Given the description of an element on the screen output the (x, y) to click on. 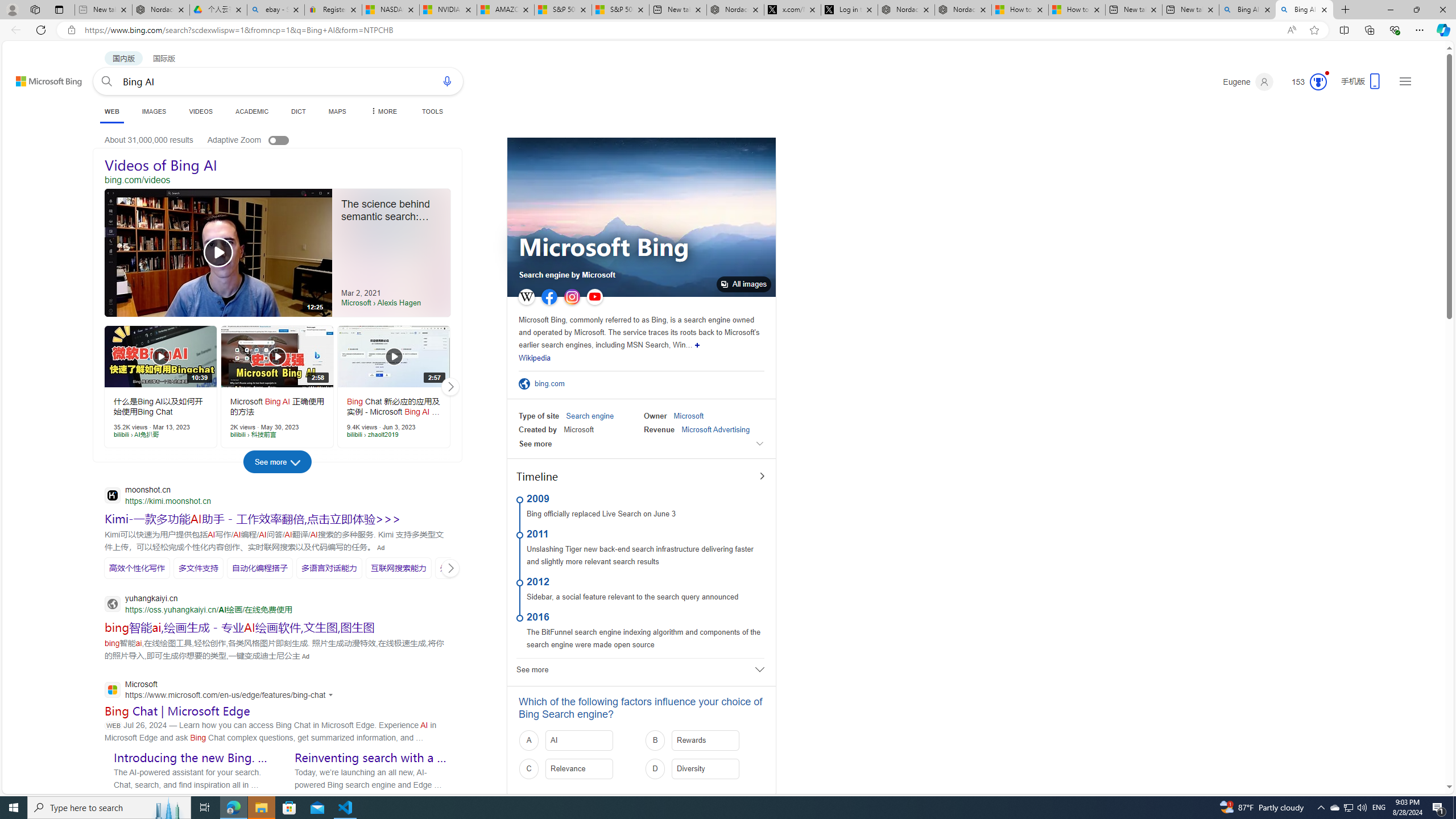
Instagram (571, 296)
IMAGES (153, 111)
ACADEMIC (252, 111)
bing.com (553, 383)
All images (743, 284)
Bing Chat | Microsoft Edge (177, 710)
New tab - Sleeping (102, 9)
Microsoft (688, 415)
